Given the description of an element on the screen output the (x, y) to click on. 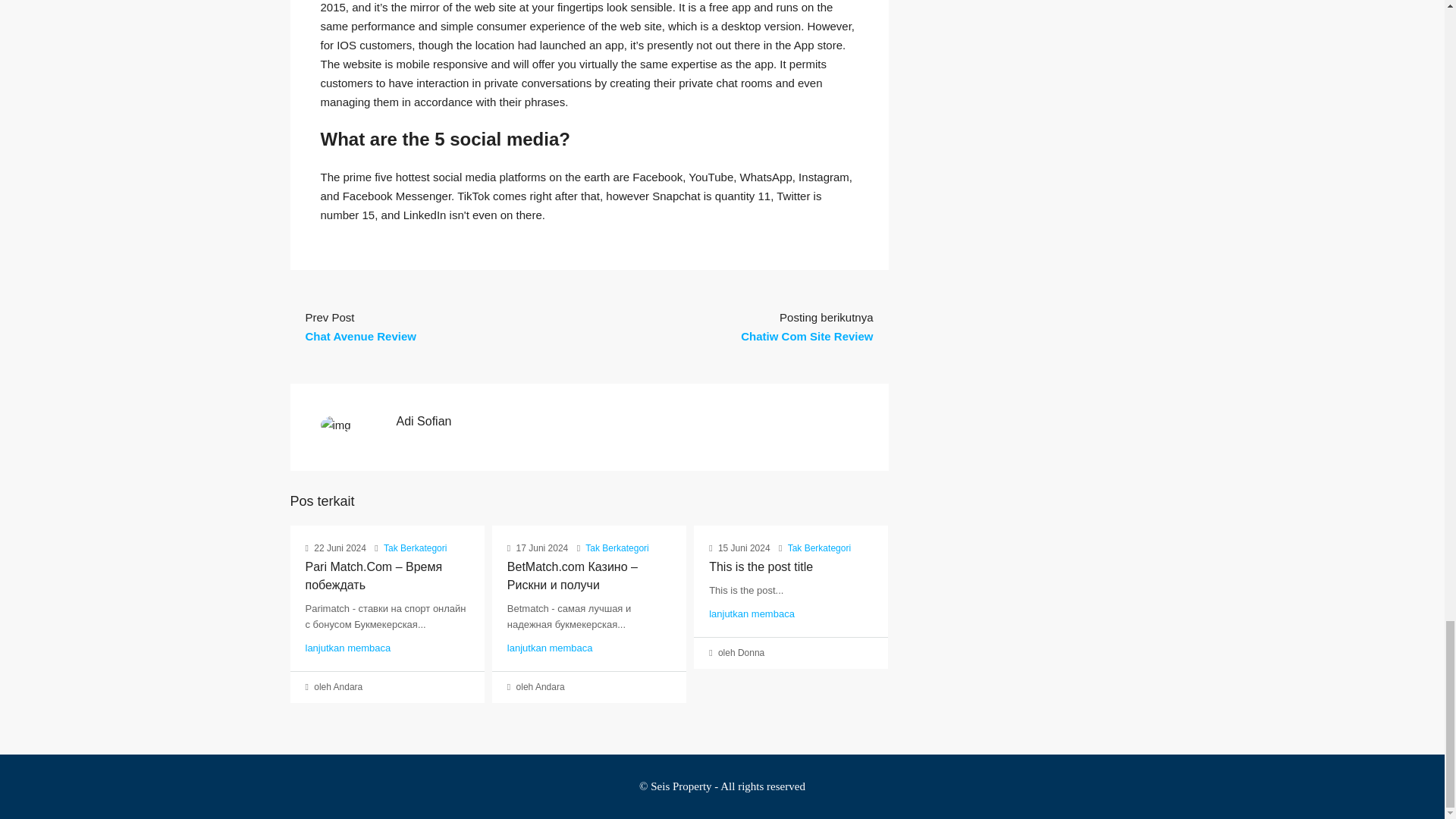
Tak Berkategori (818, 547)
Chat Avenue Review (359, 336)
Tak Berkategori (415, 547)
lanjutkan membaca (549, 647)
Chatiw Com Site Review (806, 336)
Tak Berkategori (616, 547)
lanjutkan membaca (347, 647)
This is the post title (760, 566)
lanjutkan membaca (751, 613)
